Given the description of an element on the screen output the (x, y) to click on. 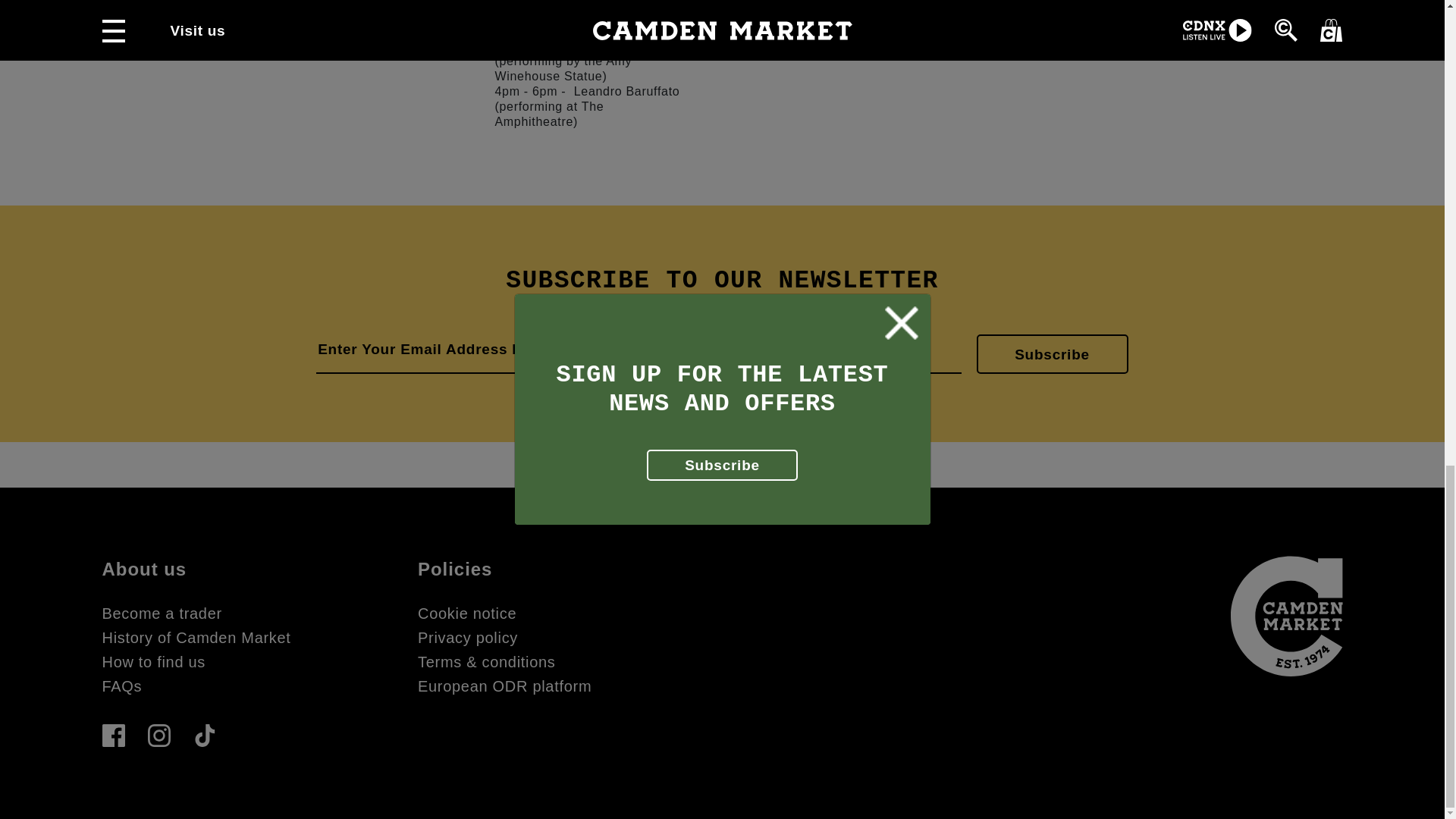
How to find us (153, 661)
History of Camden Market (195, 637)
Subscribe (1052, 353)
Become a trader (161, 613)
FAQs (121, 686)
Cookie notice (466, 613)
